Given the description of an element on the screen output the (x, y) to click on. 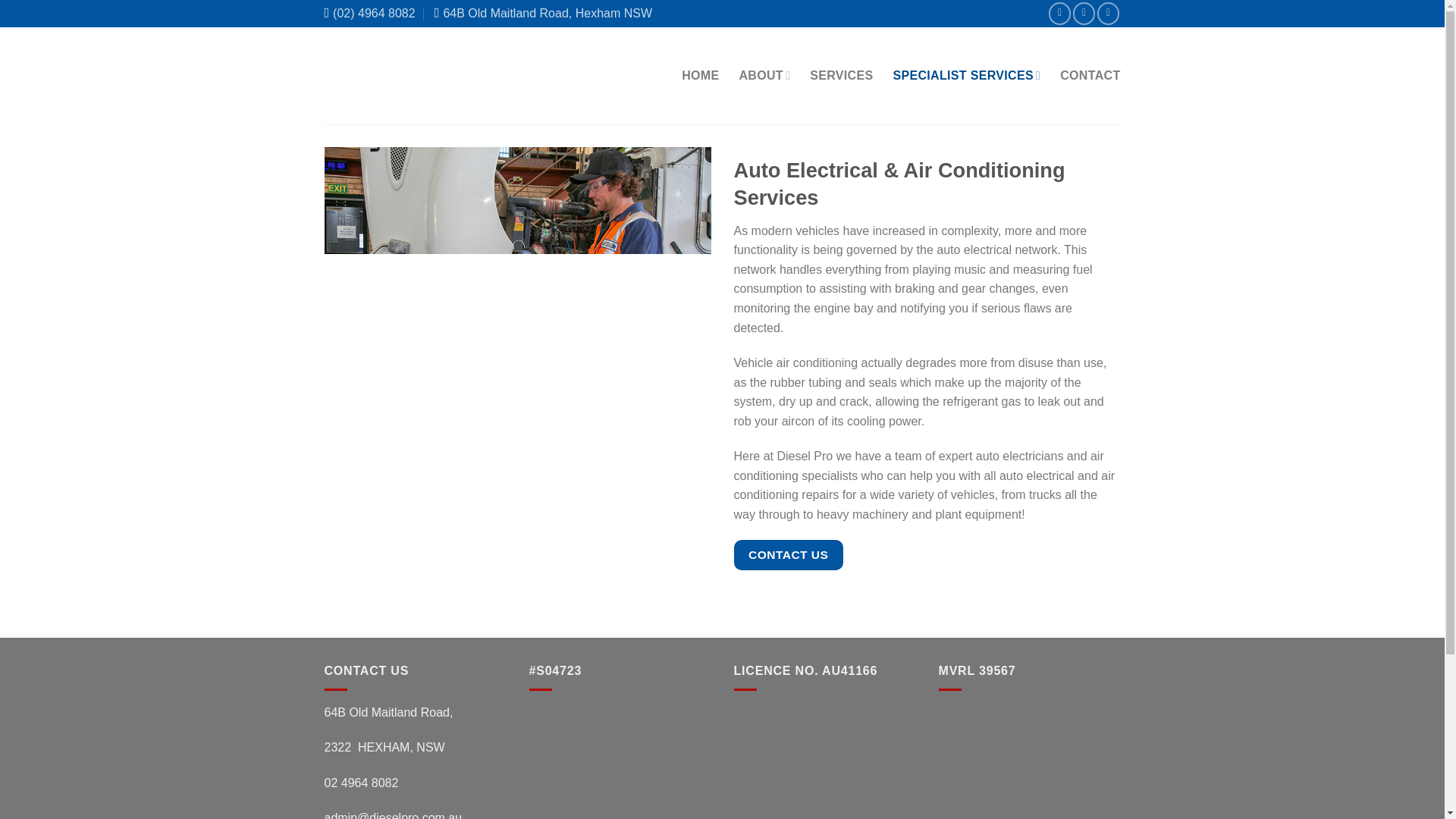
64B Old Maitland Road, Hexham NSW (547, 13)
SPECIALIST SERVICES (966, 75)
CONTACT (1089, 75)
Follow on Instagram (1083, 13)
ABOUT (764, 75)
SERVICES (840, 75)
2322  HEXHAM, NSW (384, 747)
64B Old Maitland Road, (388, 712)
02 4964 8082 (361, 782)
